Given the description of an element on the screen output the (x, y) to click on. 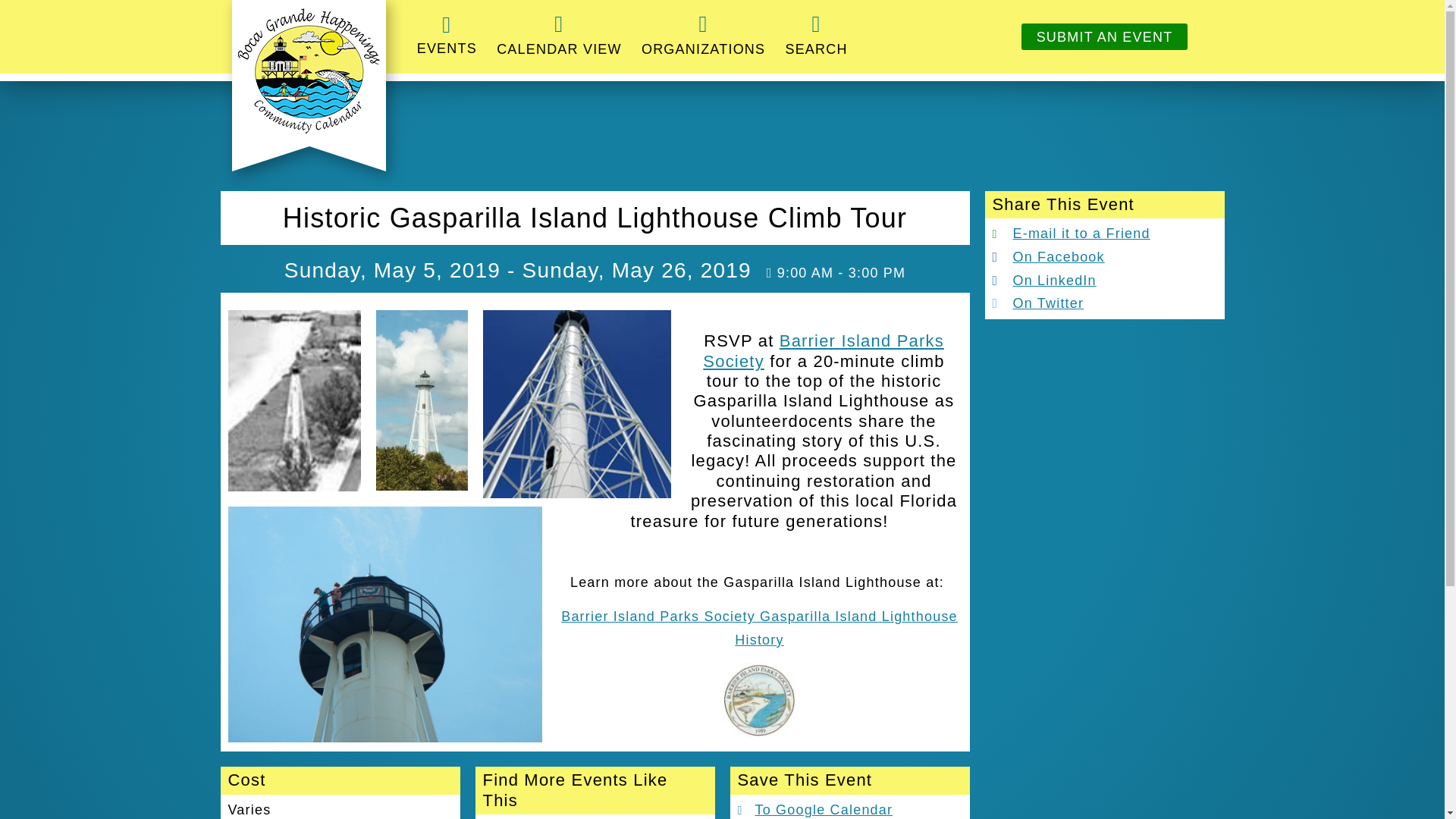
E-mail it to a Friend (1070, 233)
On Facebook (1047, 256)
EVENTS (446, 36)
Barrier Island Parks Society (823, 350)
CALENDAR VIEW (558, 37)
To Google Calendar (814, 809)
On LinkedIn (1043, 280)
SEARCH (815, 37)
On Twitter (1037, 303)
ORGANIZATIONS (703, 37)
SUBMIT AN EVENT (1105, 36)
